Given the description of an element on the screen output the (x, y) to click on. 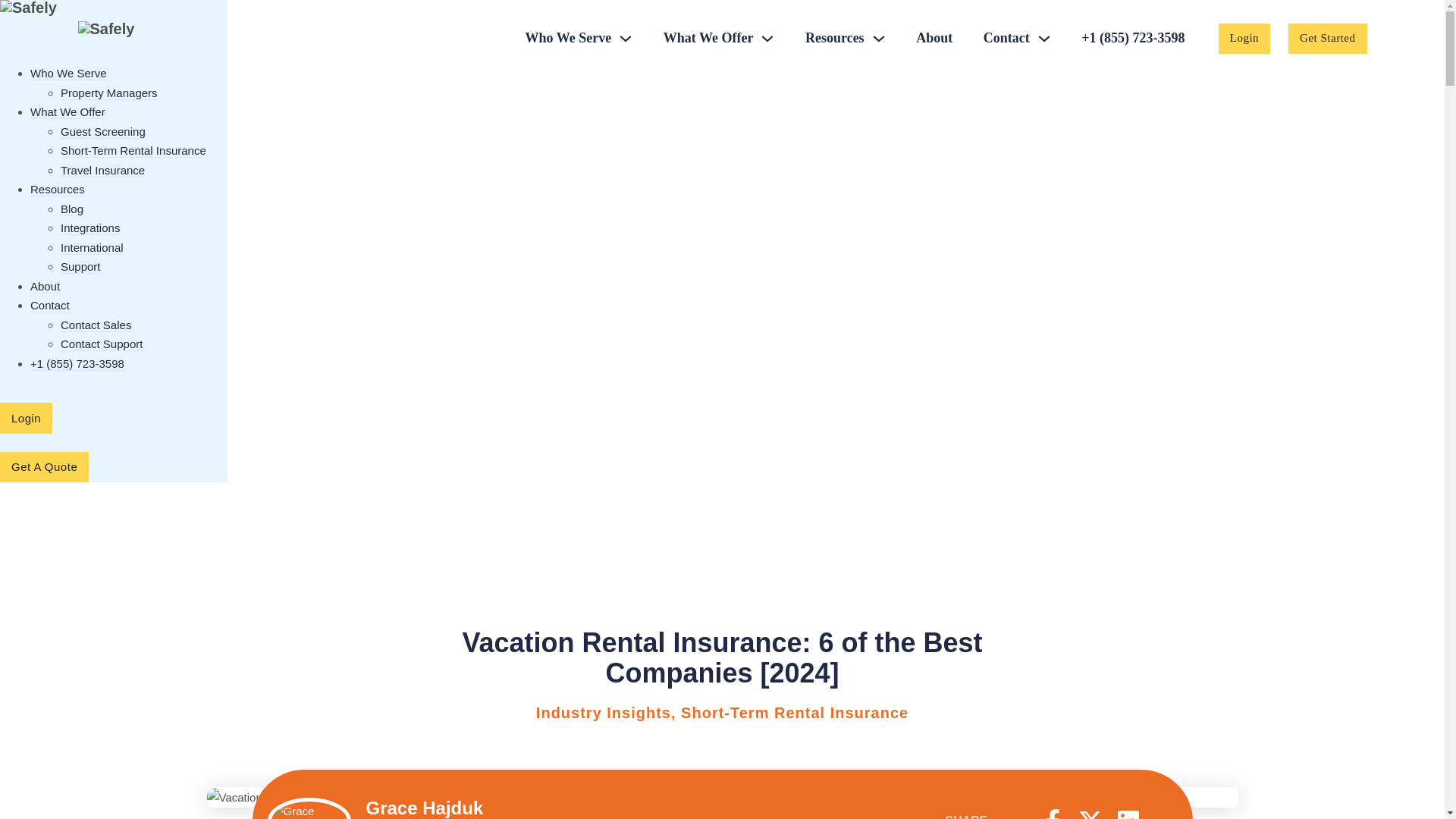
Who We Serve (568, 38)
What We Offer (708, 38)
Resources (834, 38)
